Given the description of an element on the screen output the (x, y) to click on. 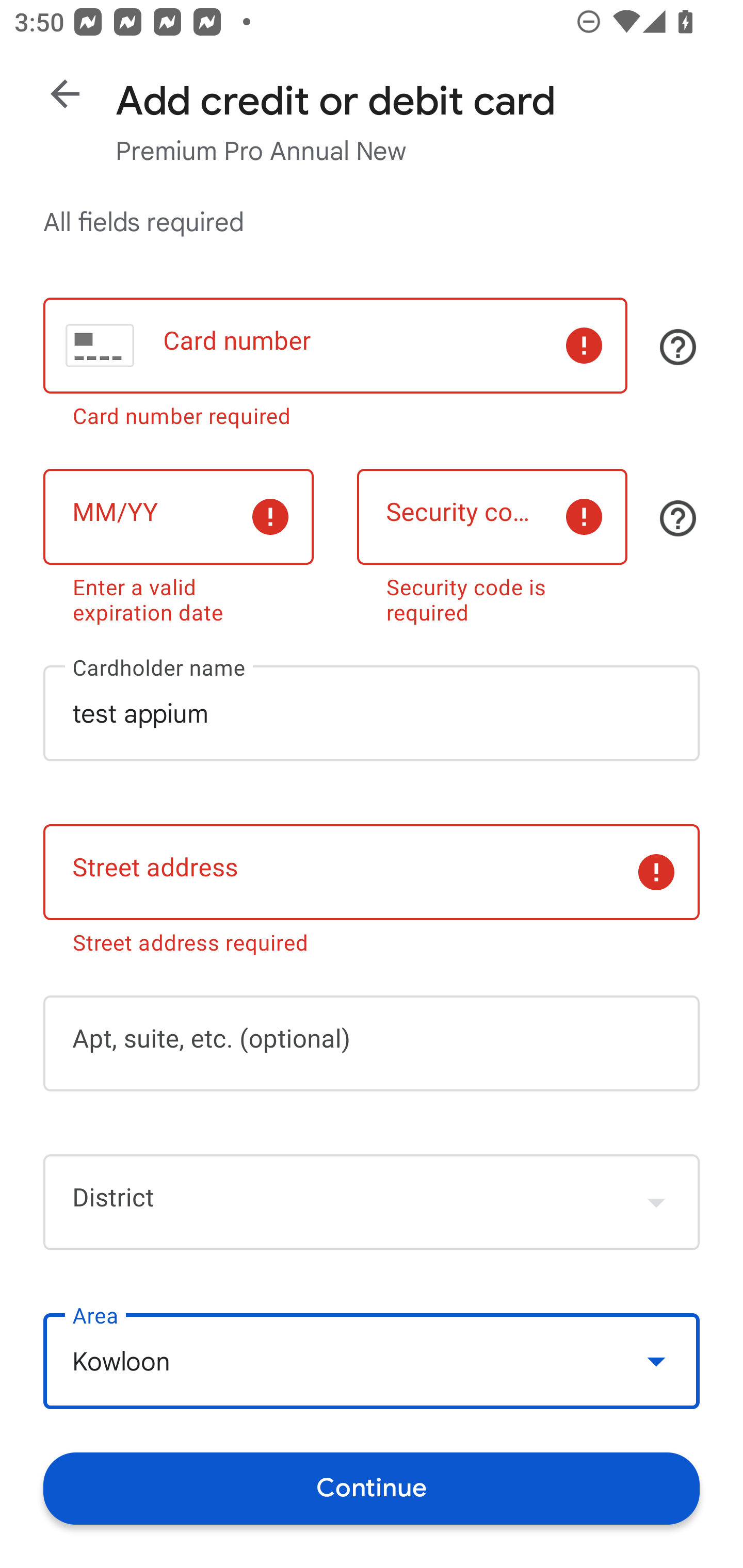
Back (64, 93)
Card number (335, 345)
Button, shows cards that are accepted for payment (677, 347)
Expiration date, 2 digit month, 2 digit year (178, 516)
Security code (492, 516)
Security code help (677, 518)
test appium (371, 713)
Street address (371, 872)
Apt, suite, etc. (optional) (371, 1043)
District (371, 1201)
Show dropdown menu (655, 1201)
Kowloon (371, 1361)
Show dropdown menu (655, 1360)
Continue (371, 1487)
